Given the description of an element on the screen output the (x, y) to click on. 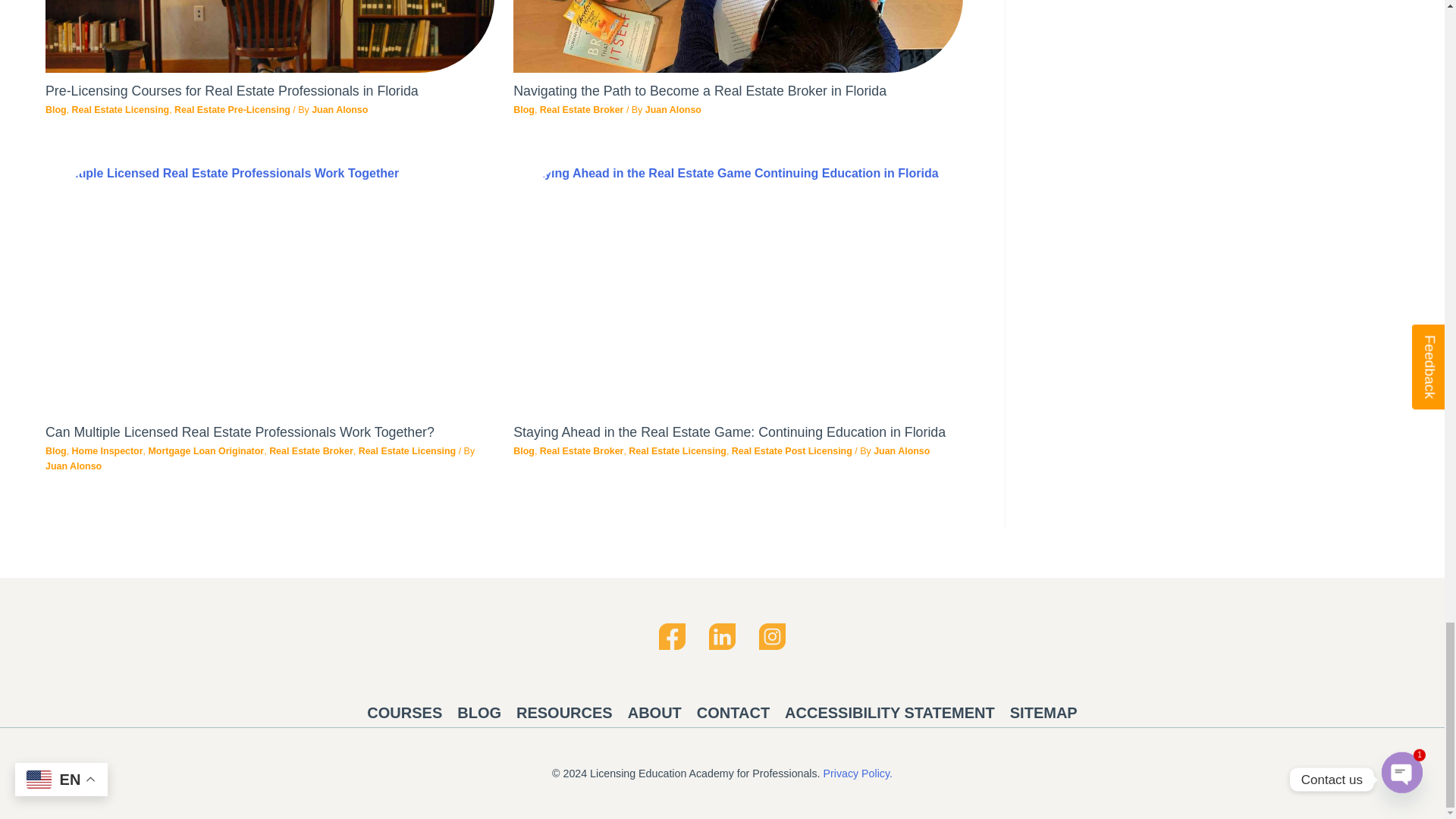
View all posts by Juan Alonso (673, 109)
View all posts by Juan Alonso (339, 109)
View all posts by Juan Alonso (73, 466)
